Given the description of an element on the screen output the (x, y) to click on. 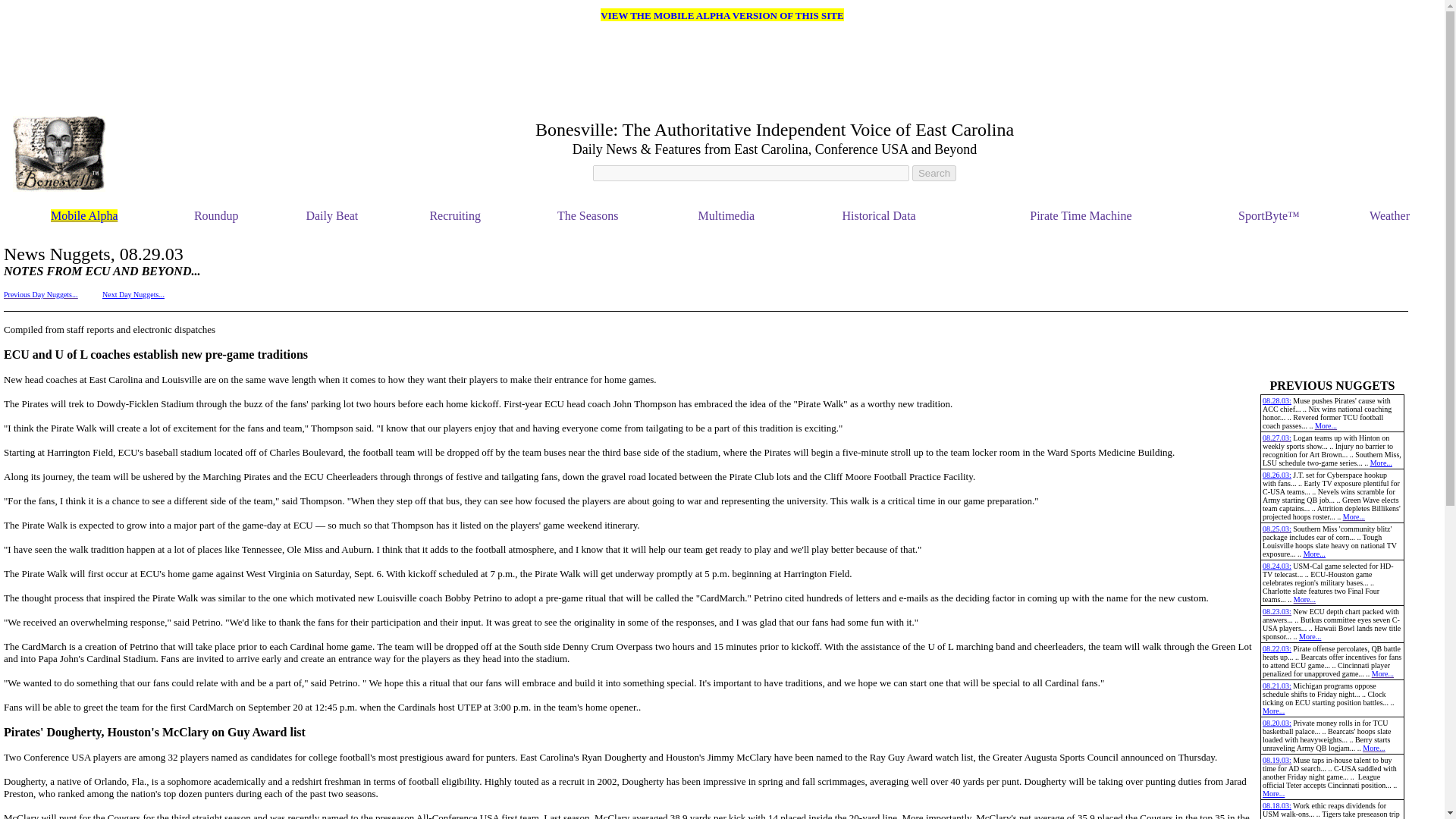
Daily Beat (331, 215)
VIEW THE MOBILE ALPHA VERSION OF THIS SITE (721, 14)
More... (1353, 516)
More... (1380, 462)
08.28.03: (1276, 400)
More... (1325, 425)
More... (1273, 793)
Roundup (215, 215)
Mobile Alpha (83, 215)
08.20.03: (1276, 723)
